Given the description of an element on the screen output the (x, y) to click on. 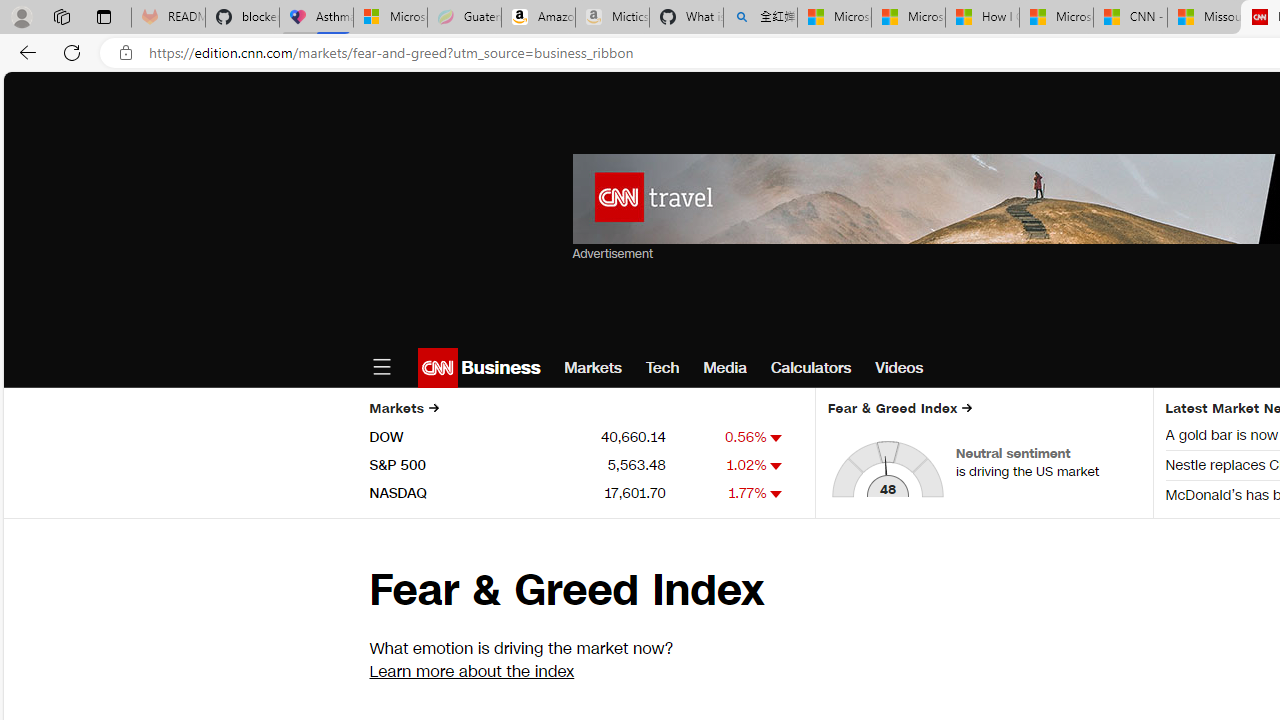
Markets (593, 367)
Media (724, 367)
How I Got Rid of Microsoft Edge's Unnecessary Features (981, 17)
Neutral sentiment is driving the US market (1048, 462)
Asthma Inhalers: Names and Types (316, 17)
CNN - MSN (1130, 17)
Calculators (811, 367)
Class: market-fng-gauge__hand-svg (886, 475)
